Given the description of an element on the screen output the (x, y) to click on. 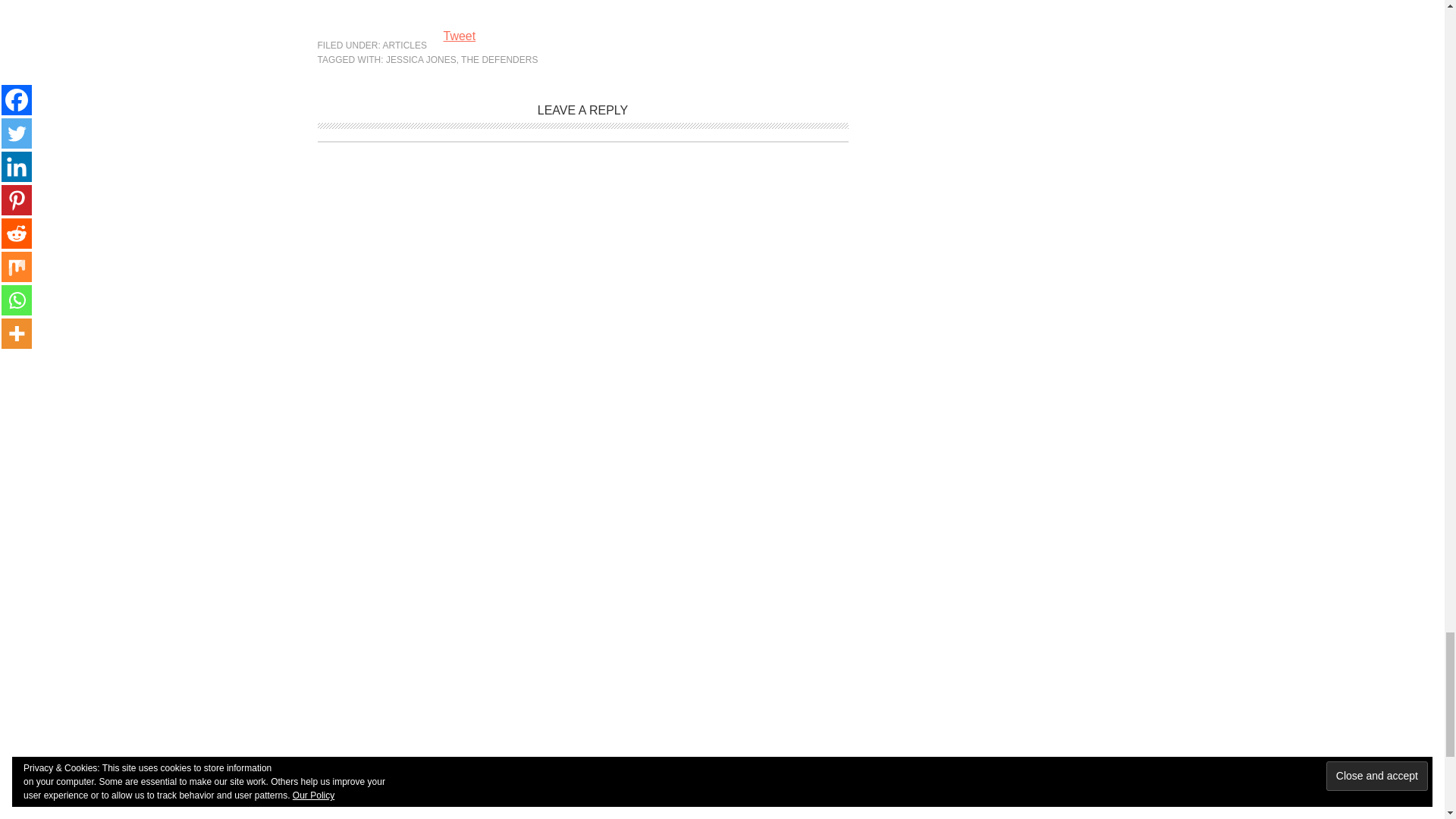
Tweet (459, 35)
